Given the description of an element on the screen output the (x, y) to click on. 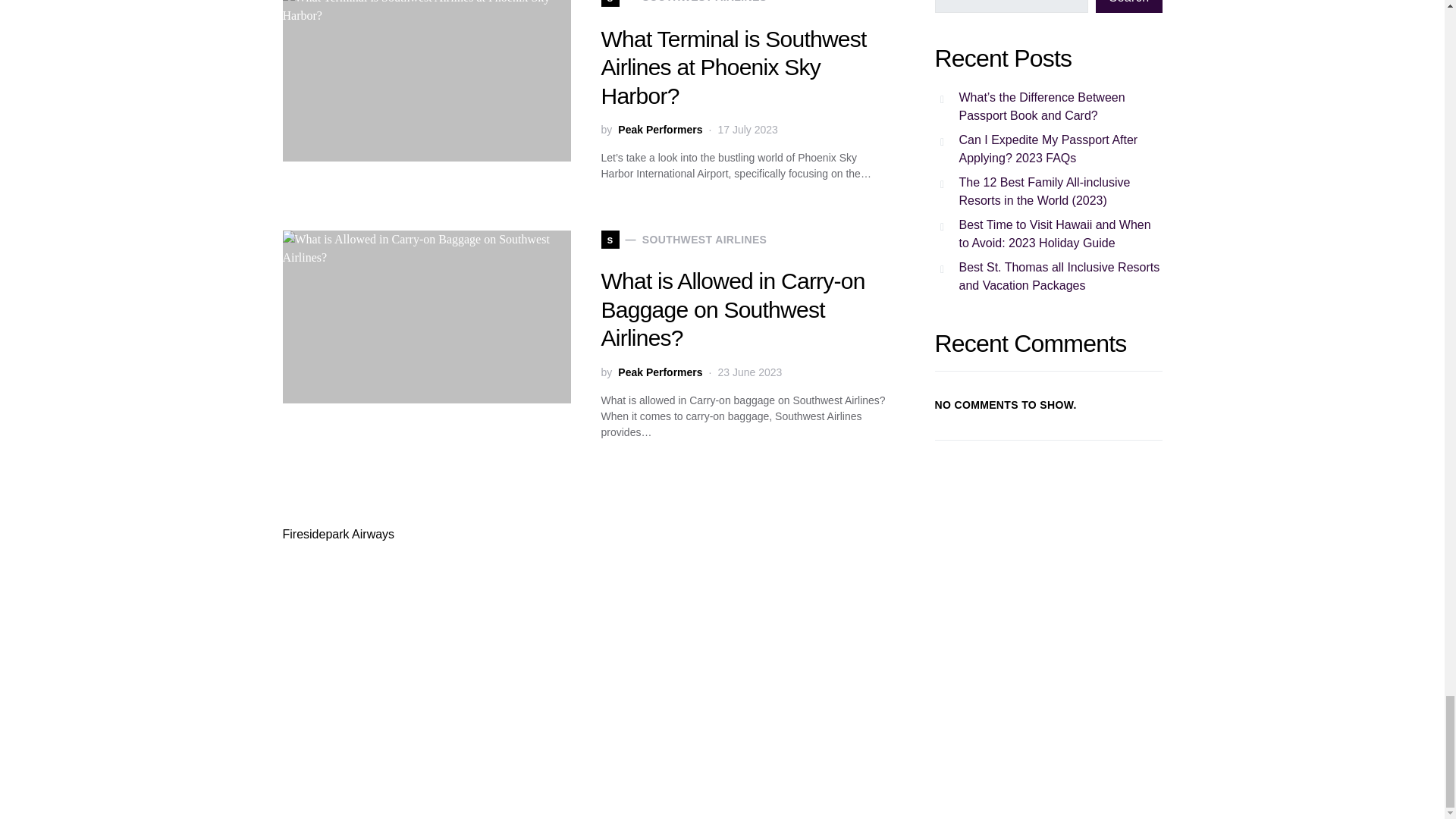
View all posts by Peak Performers (659, 130)
View all posts by Peak Performers (659, 371)
